Given the description of an element on the screen output the (x, y) to click on. 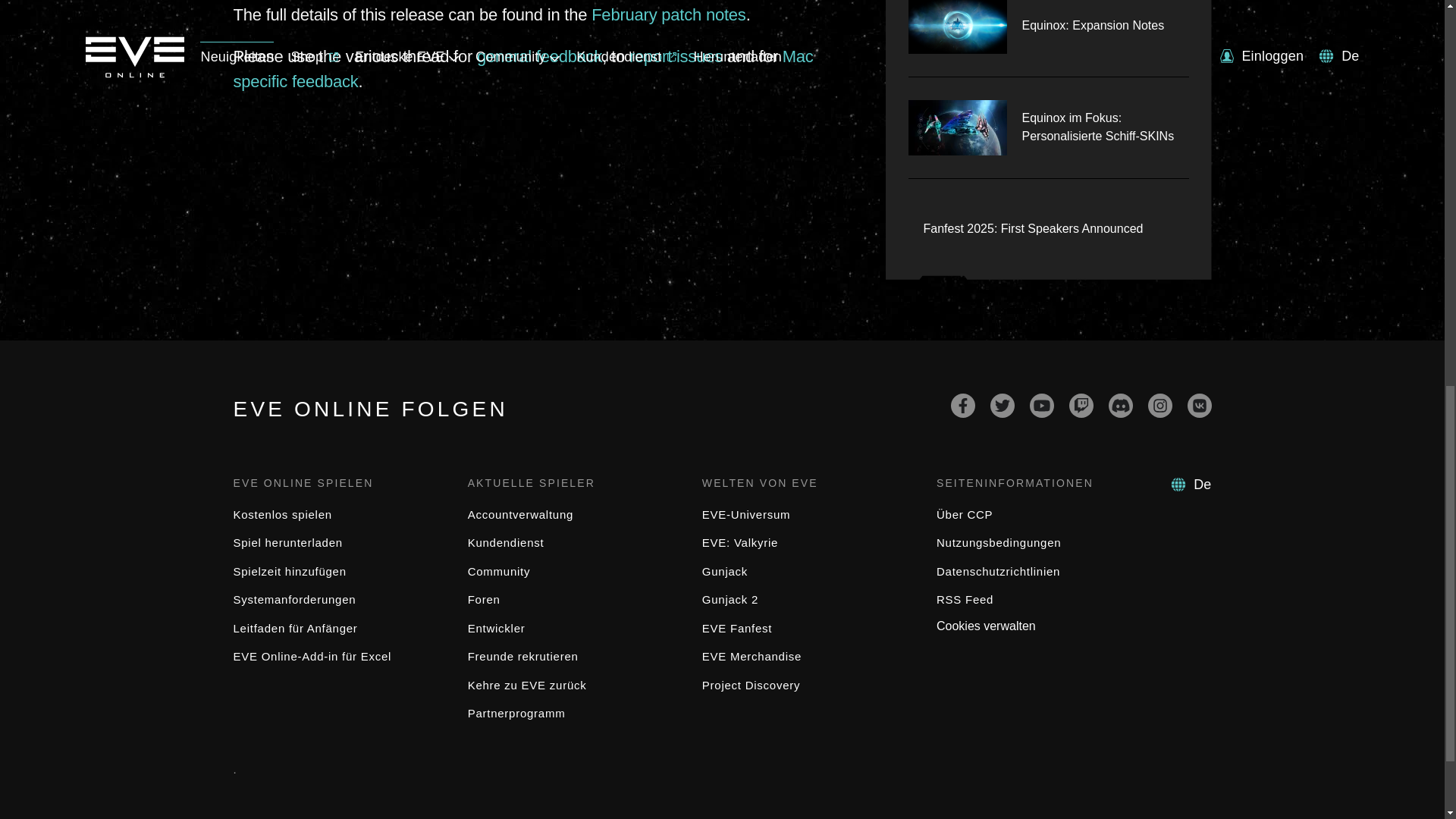
Instagram (1160, 405)
Discord (1120, 405)
VK (1199, 405)
Twitch (1080, 405)
Twitter (1002, 405)
Facebook (962, 405)
YouTube (1041, 405)
